Given the description of an element on the screen output the (x, y) to click on. 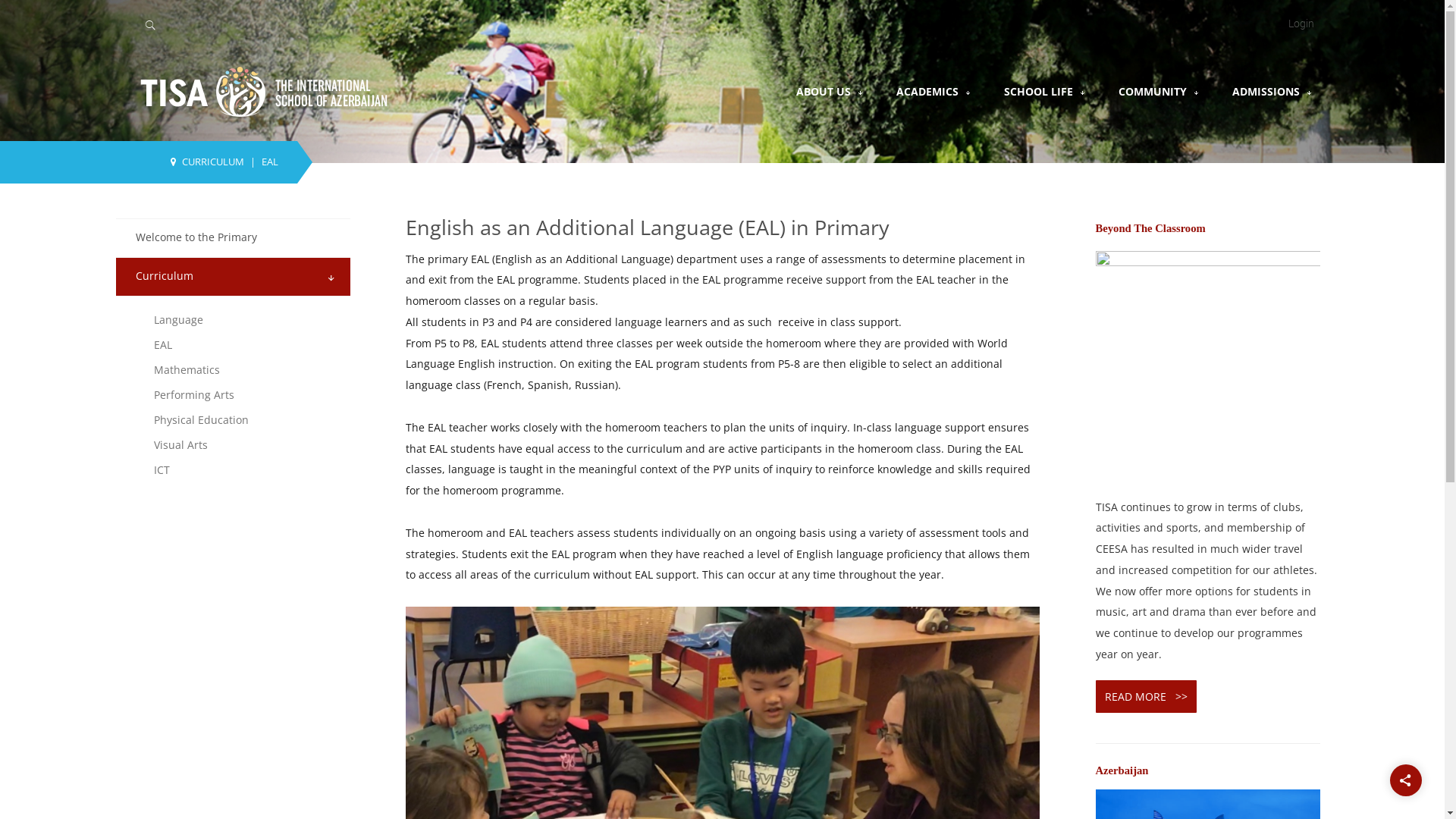
Curriculum Element type: text (163, 275)
Mathematics Element type: text (245, 369)
COMMUNITY Element type: text (1151, 91)
ADMISSIONS Element type: text (1265, 91)
Welcome to the Primary Element type: text (195, 236)
CURRICULUM Element type: text (213, 161)
COMMUNITY Element type: text (1158, 91)
Performing Arts Element type: text (245, 394)
Physical Education Element type: text (245, 419)
READ MORE   >> Element type: text (1145, 696)
SCHOOL LIFE Element type: text (1038, 91)
Language Element type: text (245, 319)
ABOUT US Element type: text (823, 91)
Search Element type: text (442, 23)
SCHOOL LIFE Element type: text (1045, 91)
ADMISSIONS Element type: text (1271, 91)
ACADEMICS Element type: text (934, 91)
ABOUT US Element type: text (830, 91)
EAL Element type: text (245, 344)
ACADEMICS Element type: text (927, 91)
ICT Element type: text (245, 469)
Visual Arts Element type: text (245, 444)
